Given the description of an element on the screen output the (x, y) to click on. 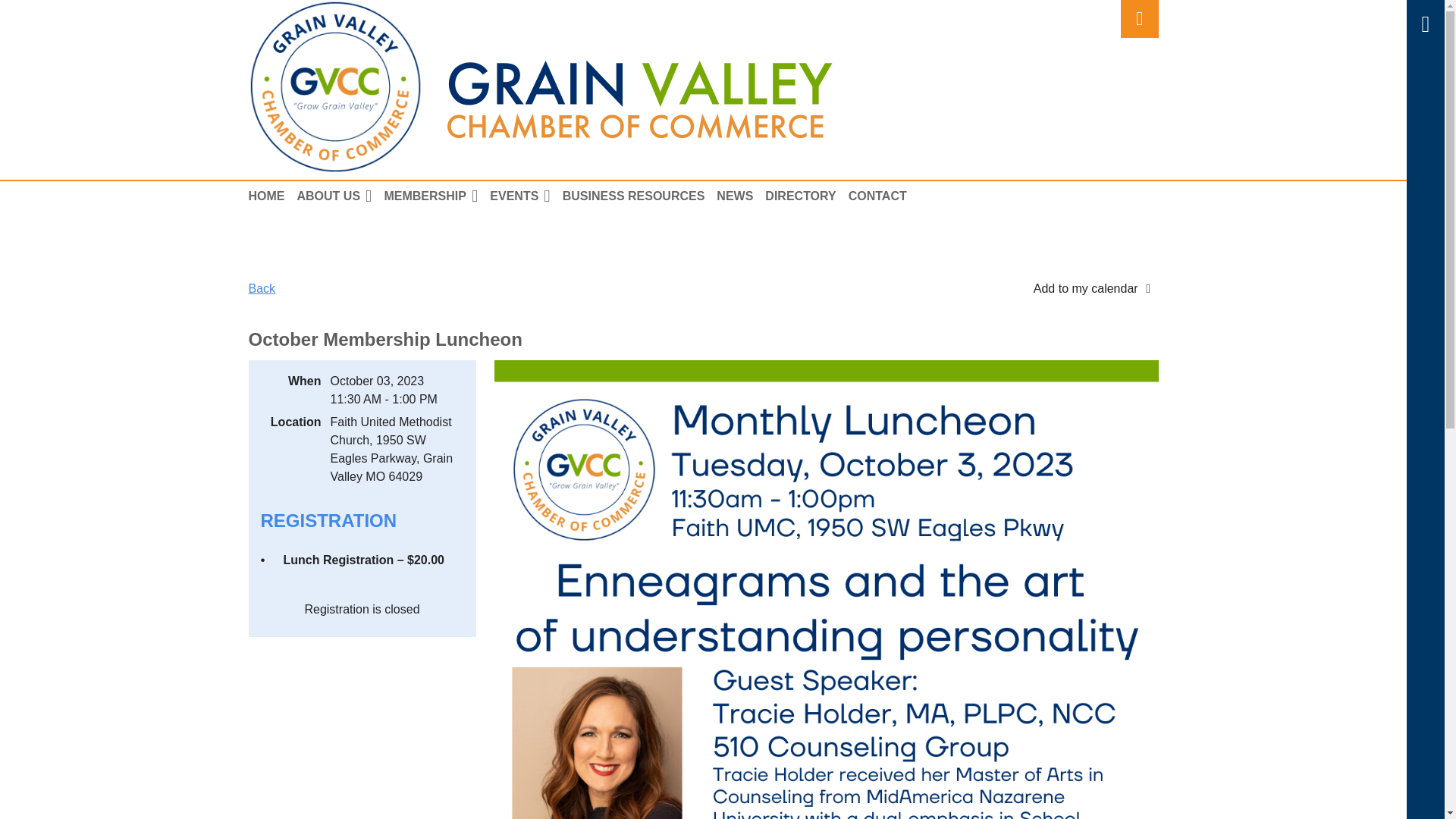
HOME (272, 195)
MEMBERSHIP (436, 195)
EVENTS (525, 195)
Back (262, 287)
Log in (1139, 18)
DIRECTORY (806, 195)
ABOUT US (340, 195)
CONTACT (883, 195)
NEWS (740, 195)
BUSINESS RESOURCES (639, 195)
